Given the description of an element on the screen output the (x, y) to click on. 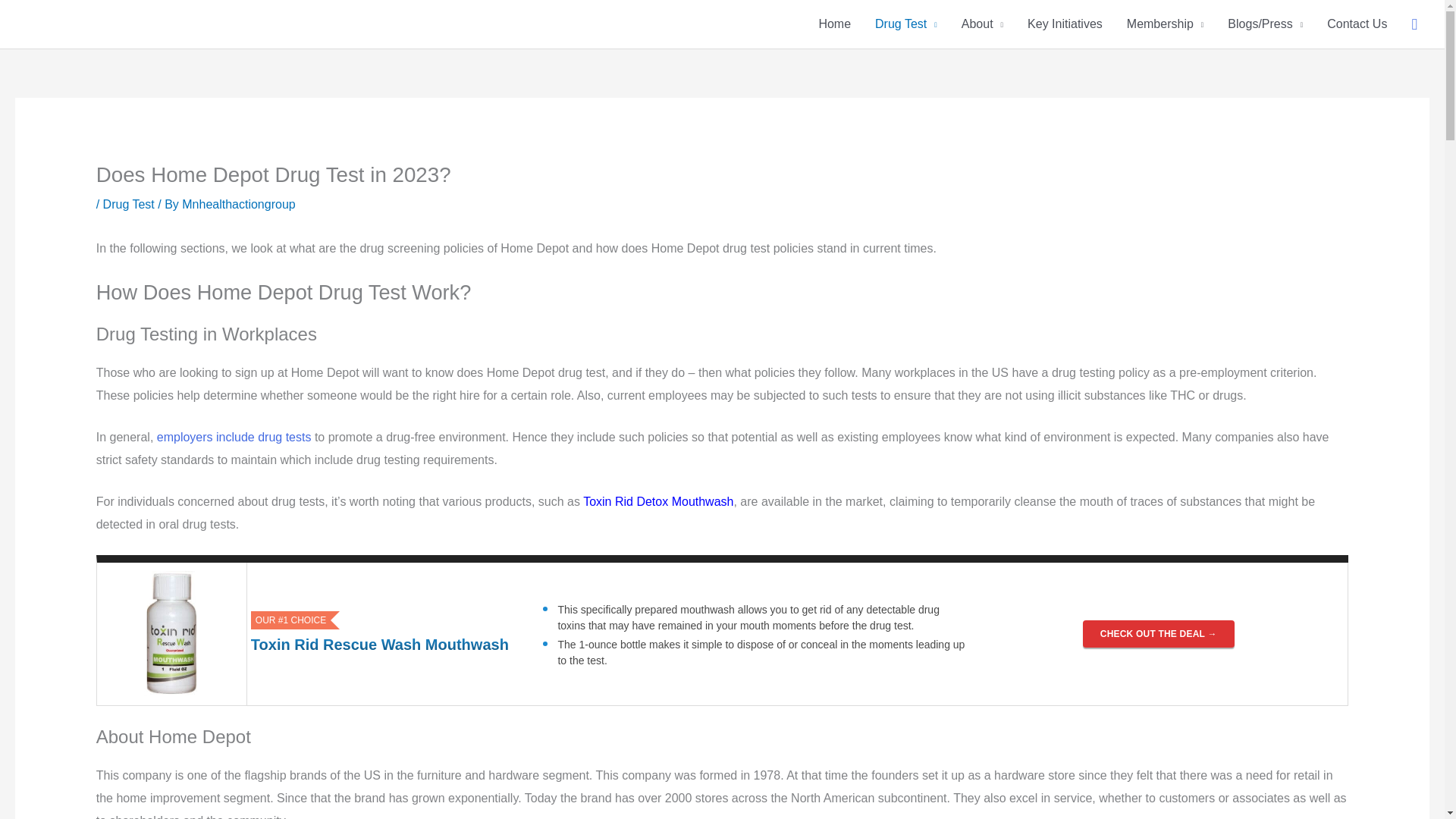
About (981, 24)
Home (834, 24)
Membership (1165, 24)
Key Initiatives (1064, 24)
View all posts by Mnhealthactiongroup (238, 204)
Drug Test (906, 24)
